Given the description of an element on the screen output the (x, y) to click on. 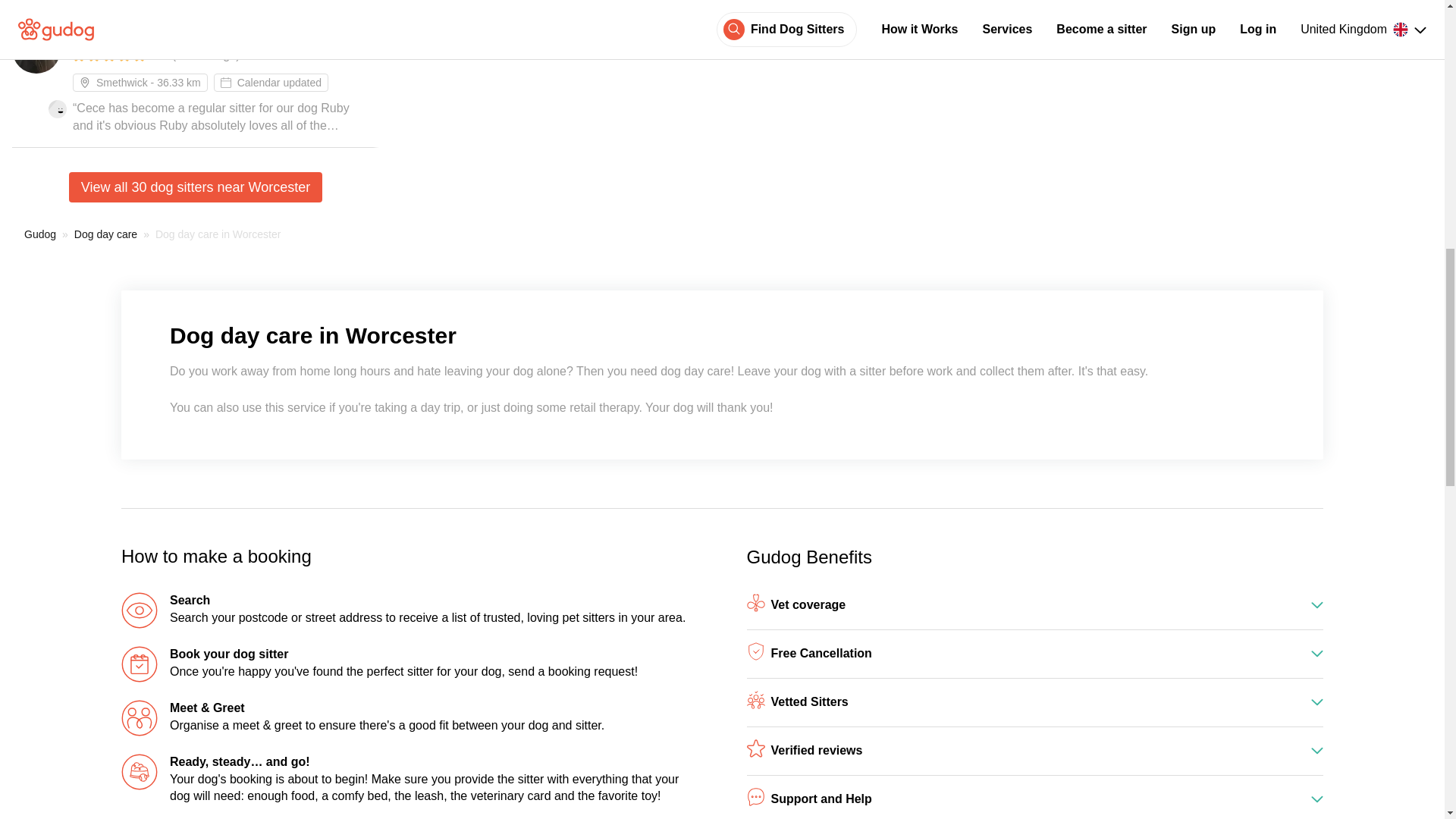
View all 30 dog sitters near Worcester (194, 186)
Dog day care (105, 234)
Gudog (40, 234)
